Given the description of an element on the screen output the (x, y) to click on. 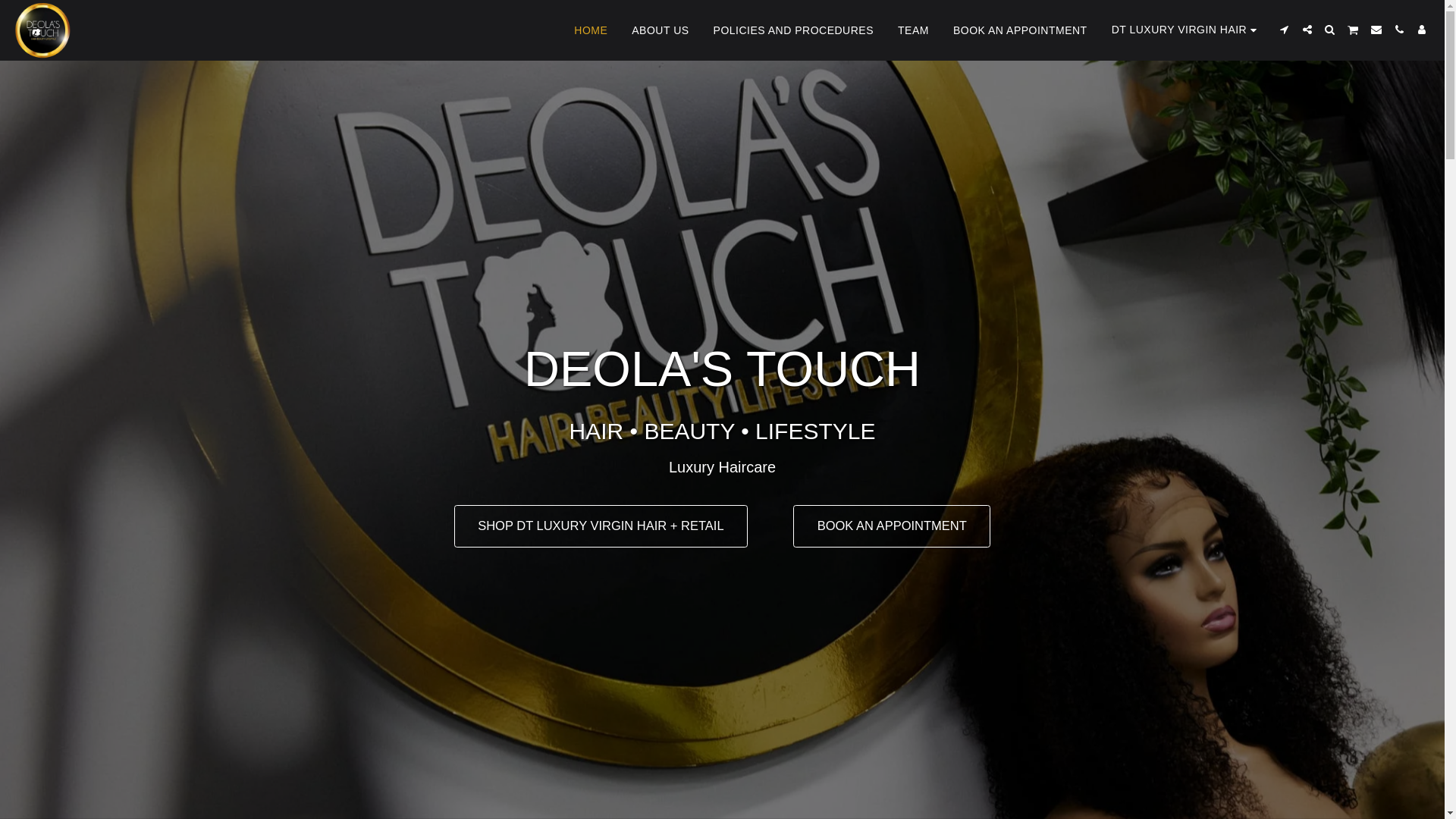
DT LUXURY VIRGIN HAIR   (1186, 29)
BOOK AN APPOINTMENT (1020, 29)
ABOUT US (660, 29)
HOME (590, 29)
BOOK AN APPOINTMENT (891, 526)
TEAM (913, 29)
DT LUXURY VIRGIN HAIR   (1186, 29)
HOME (590, 29)
ABOUT US (660, 29)
POLICIES AND PROCEDURES (793, 29)
